Given the description of an element on the screen output the (x, y) to click on. 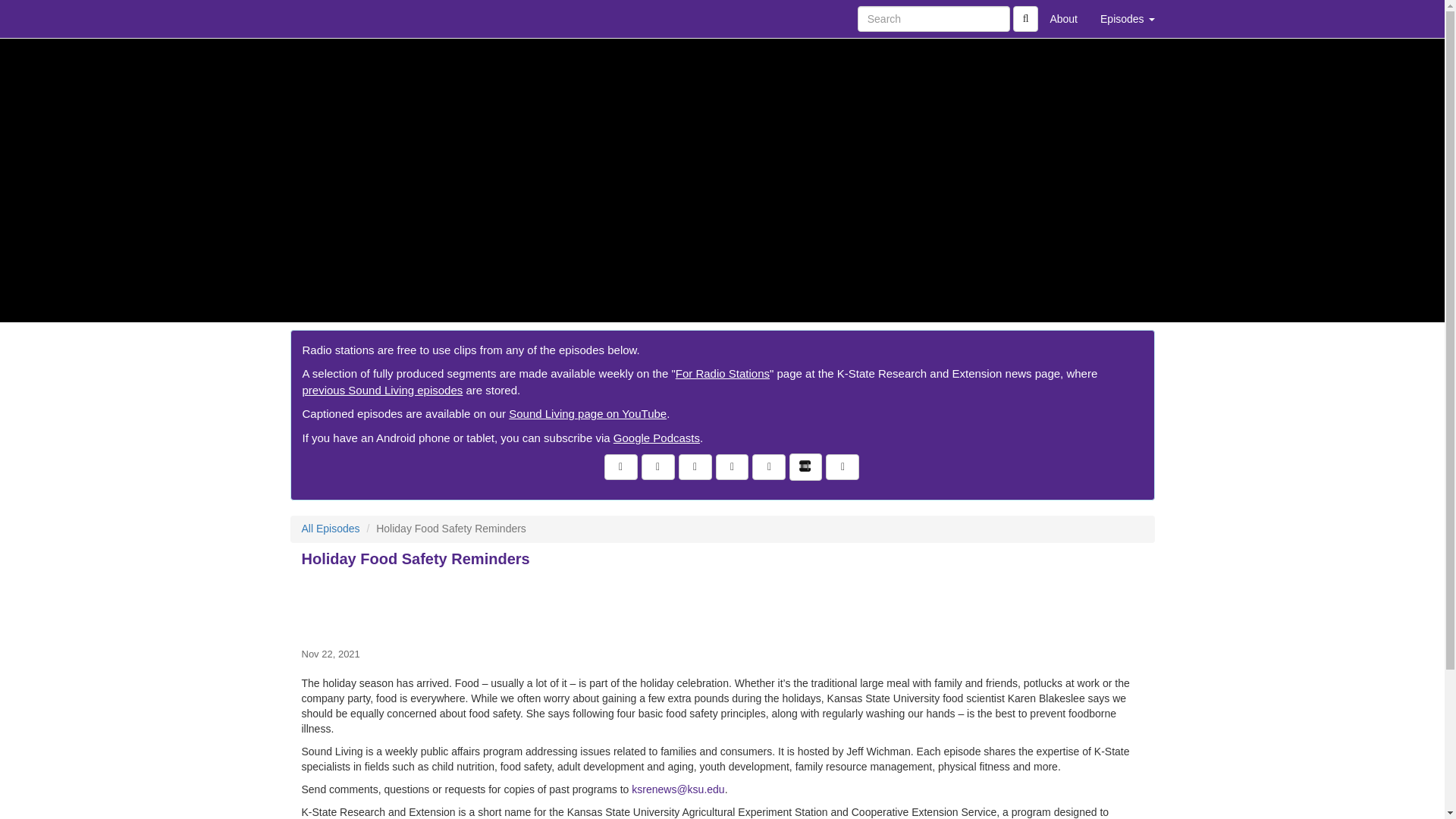
Sound Living YouTube page (587, 413)
About (1063, 18)
Episodes (1127, 18)
Home Page (320, 18)
For Radio Stations (722, 373)
Google Podcasts (656, 437)
Holiday Food Safety Reminders (721, 604)
